Given the description of an element on the screen output the (x, y) to click on. 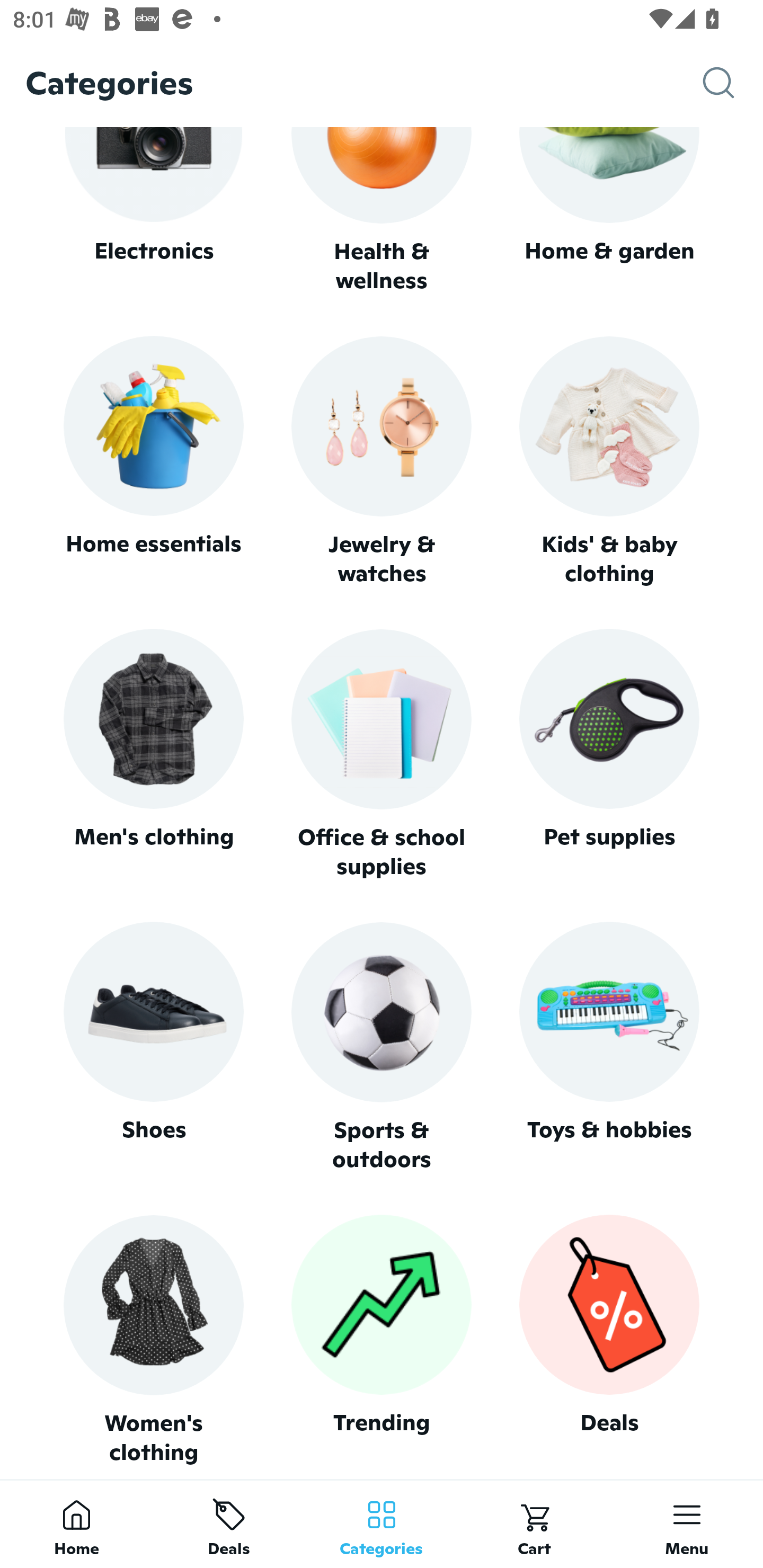
Search (732, 82)
Electronics (153, 210)
Health & wellness (381, 210)
Home & garden (609, 210)
Home essentials (153, 461)
Jewelry & watches (381, 462)
Kids' & baby clothing (609, 462)
Men's clothing (153, 753)
Pet supplies (609, 753)
Office & school supplies (381, 753)
Shoes (153, 1046)
Toys & hobbies (609, 1046)
Sports & outdoors (381, 1046)
Trending (381, 1340)
Deals (609, 1340)
Women's clothing (153, 1340)
Home (76, 1523)
Deals (228, 1523)
Categories (381, 1523)
Cart (533, 1523)
Menu (686, 1523)
